Given the description of an element on the screen output the (x, y) to click on. 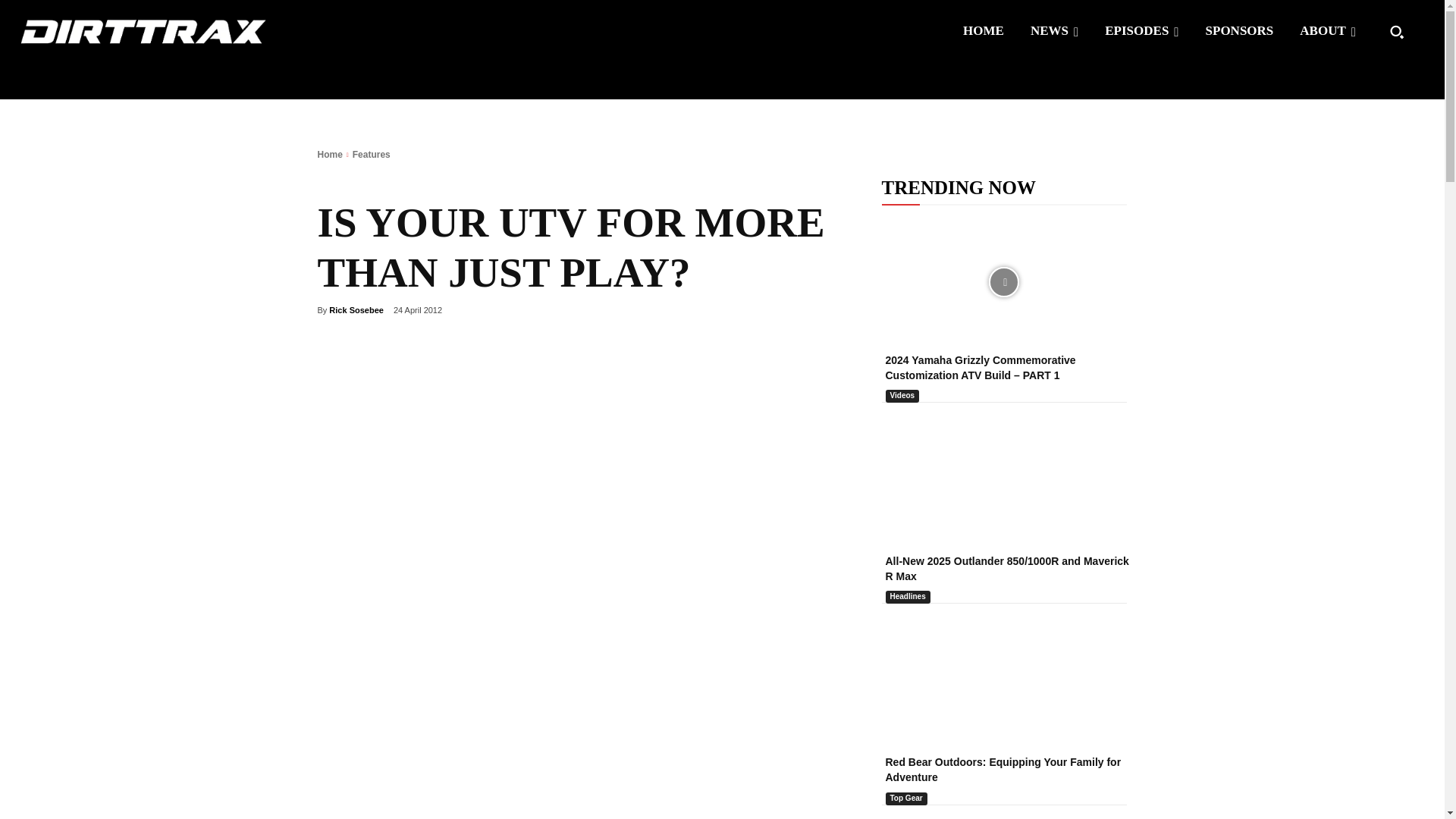
Dirt Trax (147, 31)
Dirt Trax (142, 31)
NEWS (1054, 30)
HOME (983, 30)
